Given the description of an element on the screen output the (x, y) to click on. 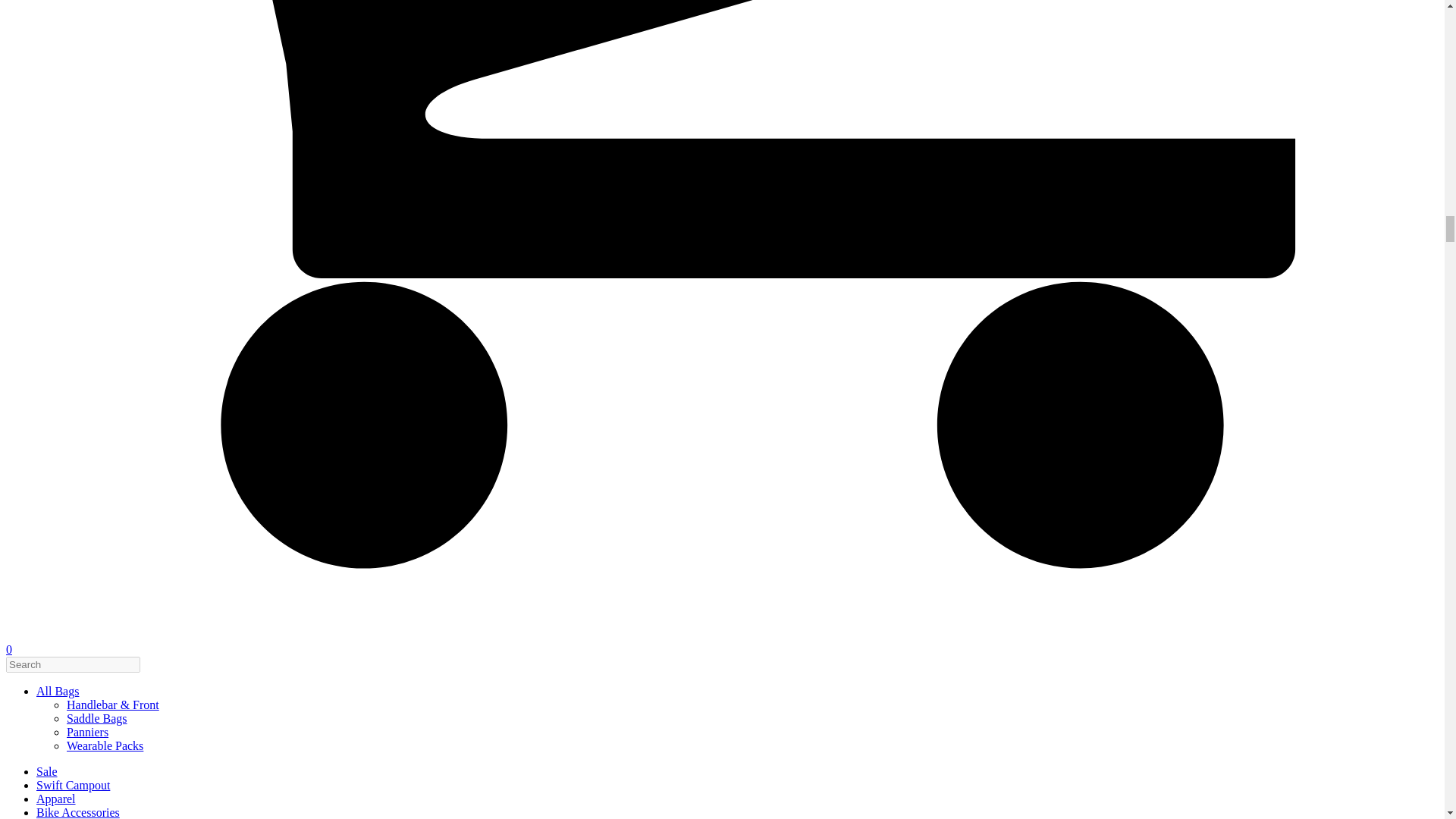
Swift Campout (73, 784)
Sale (47, 771)
Panniers (86, 731)
Apparel (55, 798)
Wearable Packs (104, 745)
All Bags (57, 690)
Search for: (72, 664)
Bike Accessories (77, 812)
Saddle Bags (97, 717)
